Given the description of an element on the screen output the (x, y) to click on. 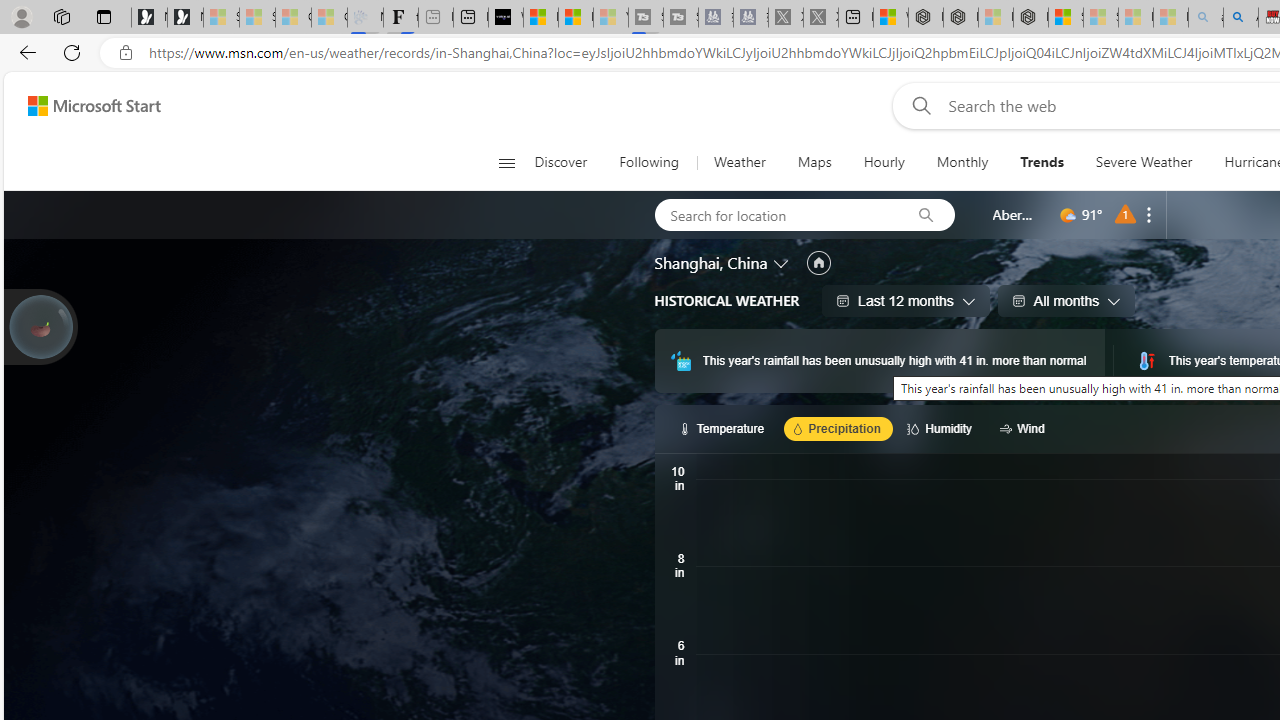
Monthly (962, 162)
Change location (782, 262)
Maps (814, 162)
Aberdeen (1014, 214)
Hourly (883, 162)
Monthly (962, 162)
Hourly (884, 162)
